Given the description of an element on the screen output the (x, y) to click on. 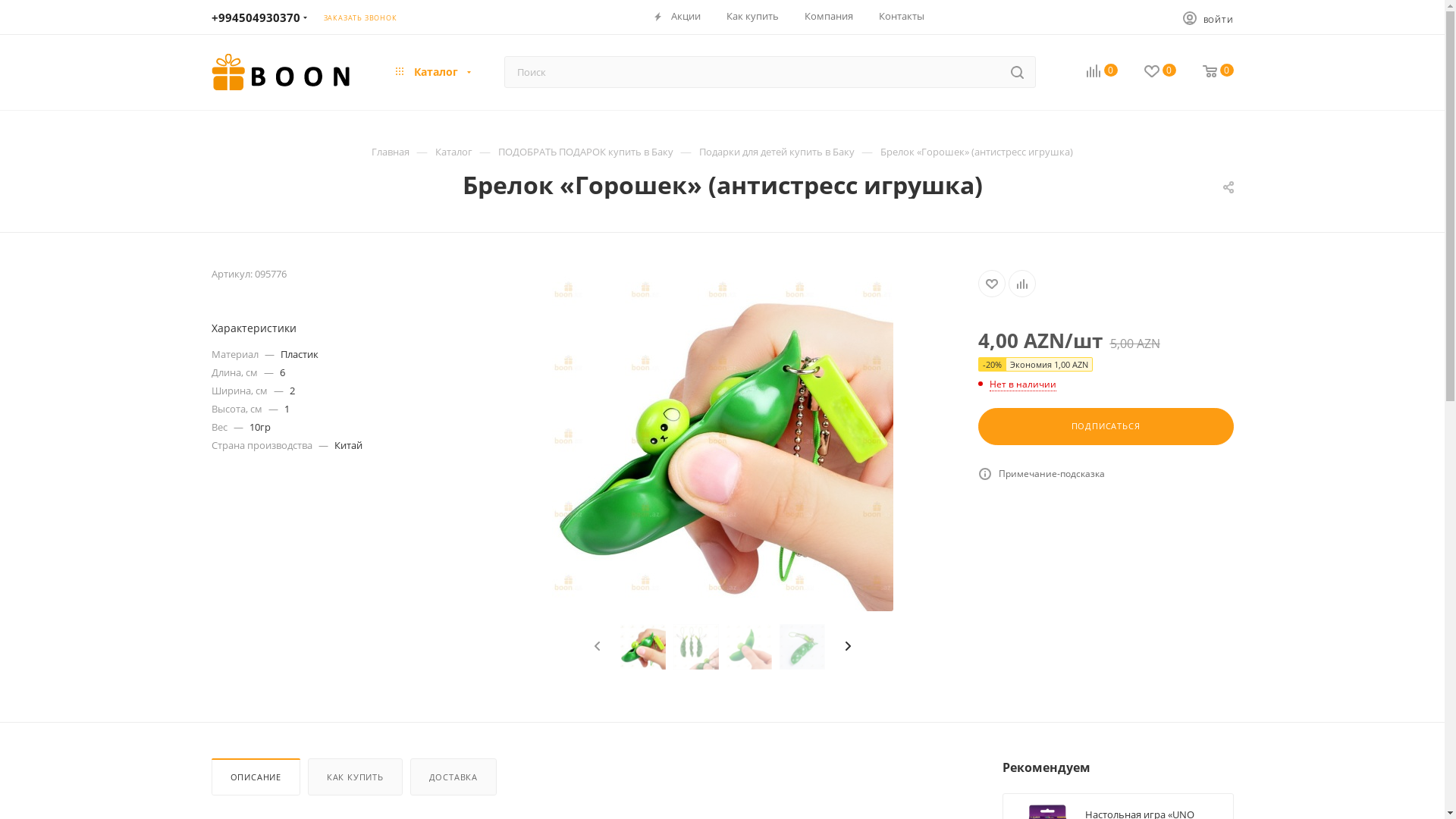
0 Element type: text (1204, 71)
0 Element type: text (1088, 71)
0 Element type: text (1146, 71)
+994504930370 Element type: text (254, 17)
